Given the description of an element on the screen output the (x, y) to click on. 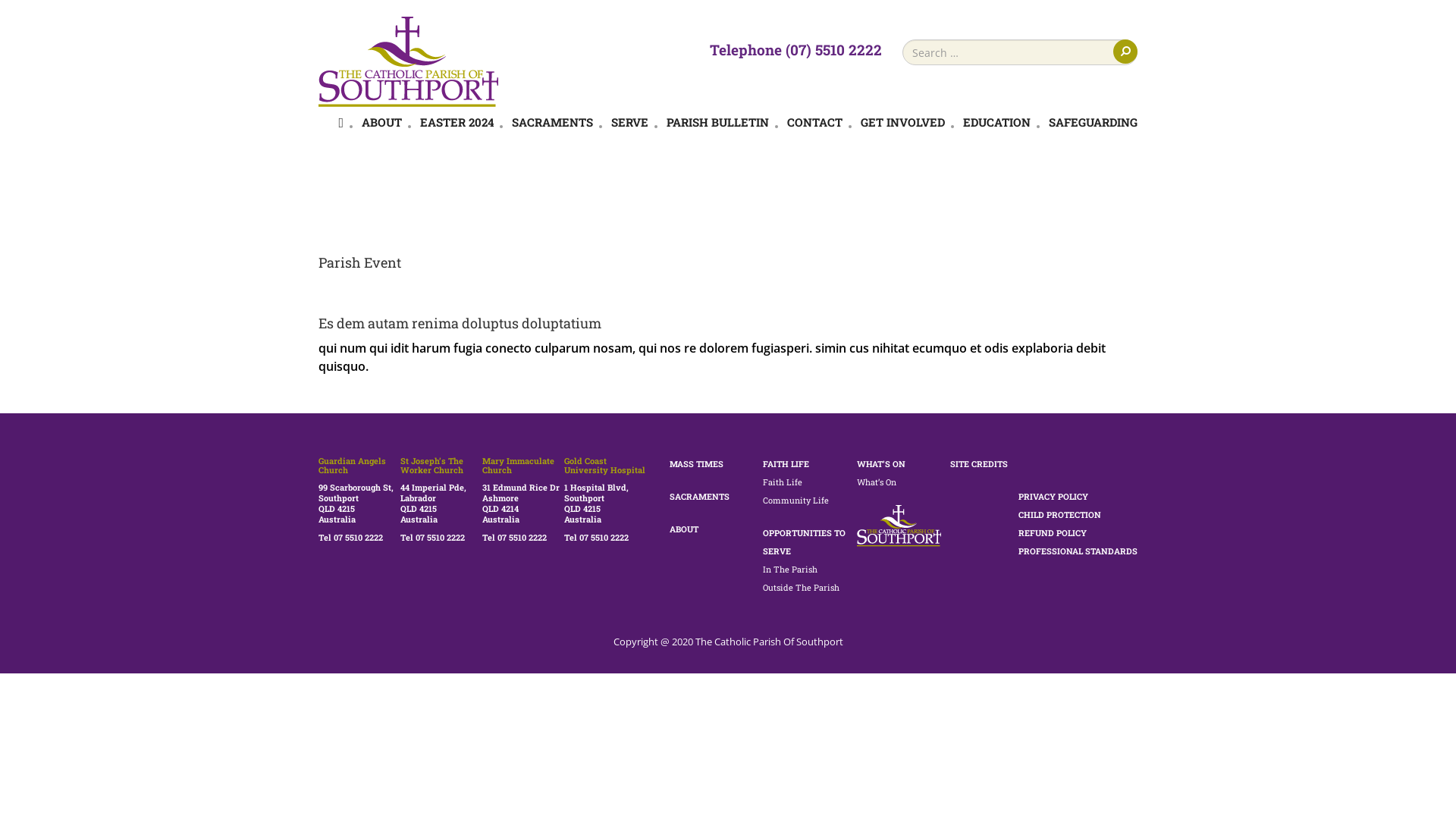
EASTER 2024 Element type: text (456, 121)
PROFESSIONAL STANDARDS Element type: text (1077, 550)
Outside The Parish Element type: text (800, 587)
SERVE Element type: text (629, 121)
MASS TIMES Element type: text (695, 463)
SACRAMENTS Element type: text (698, 496)
Faith Life Element type: text (782, 481)
GET INVOLVED Element type: text (902, 121)
CHILD PROTECTION Element type: text (1059, 514)
OPPORTUNITIES TO SERVE Element type: text (803, 541)
PRIVACY POLICY Element type: text (1053, 496)
Search for: Element type: hover (1019, 52)
CONTACT Element type: text (814, 121)
EDUCATION Element type: text (996, 121)
ABOUT Element type: text (682, 528)
SITE CREDITS Element type: text (978, 463)
Search Element type: text (1125, 51)
Telephone (07) 5510 2222 Element type: text (795, 49)
SAFEGUARDING Element type: text (1092, 121)
ABOUT Element type: text (381, 121)
PARISH BULLETIN Element type: text (717, 121)
In The Parish Element type: text (789, 568)
REFUND POLICY Element type: text (1052, 532)
Community Life Element type: text (795, 499)
FAITH LIFE Element type: text (785, 463)
SACRAMENTS Element type: text (552, 121)
